Given the description of an element on the screen output the (x, y) to click on. 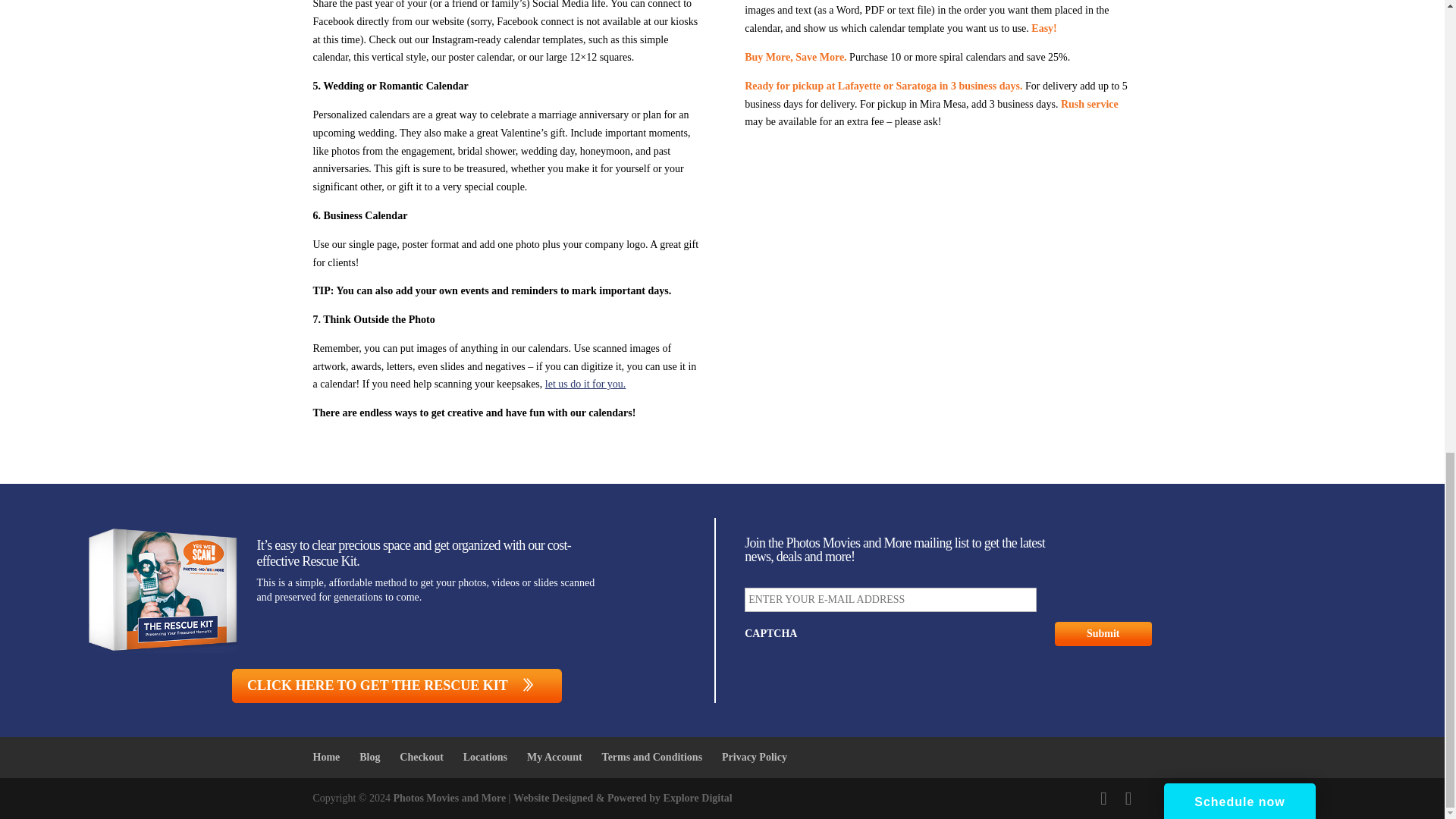
let us do it for you. (585, 383)
Submit (1102, 633)
